Given the description of an element on the screen output the (x, y) to click on. 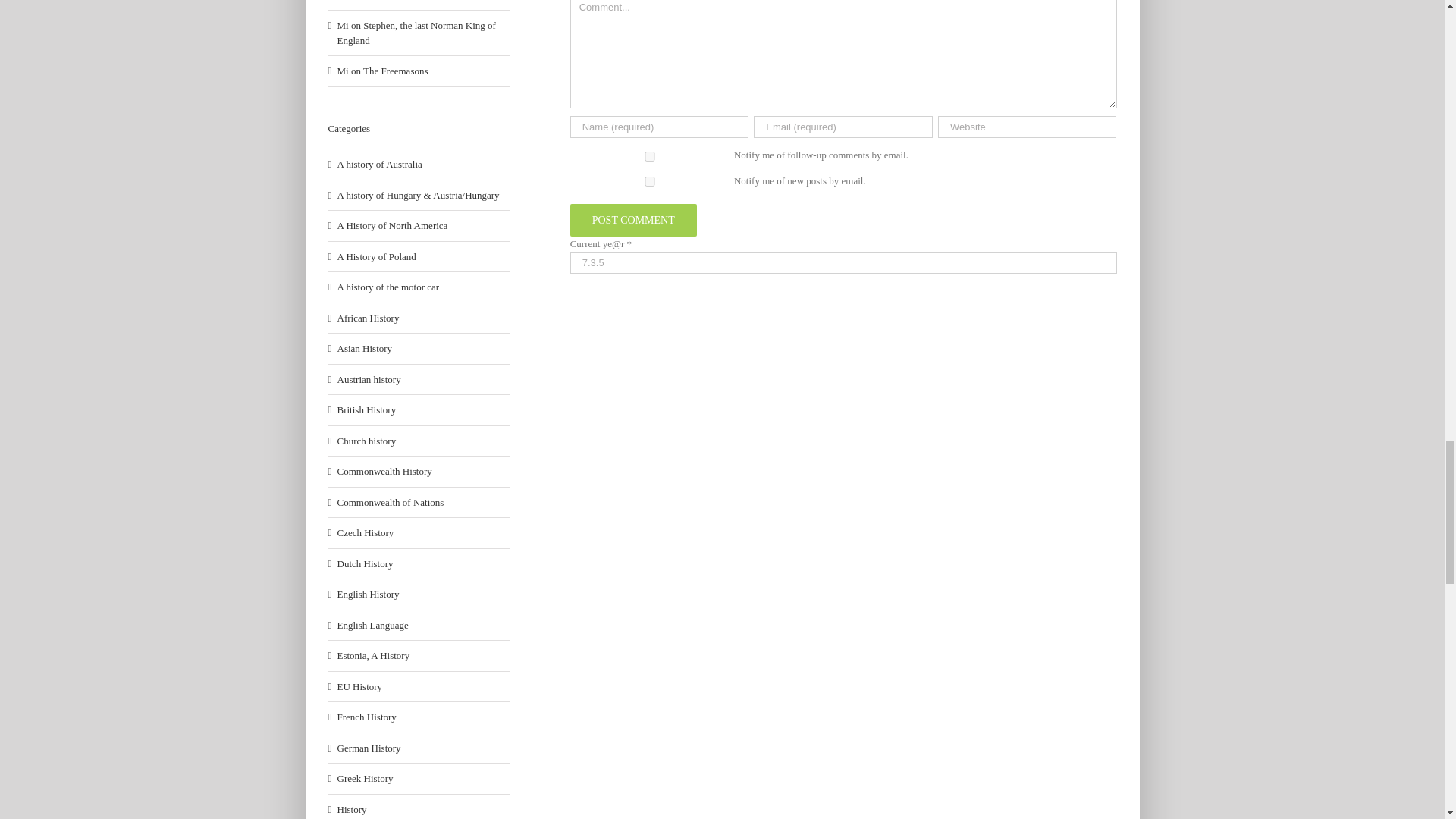
subscribe (649, 181)
7.3.5 (843, 262)
subscribe (649, 156)
Post Comment (633, 219)
